Given the description of an element on the screen output the (x, y) to click on. 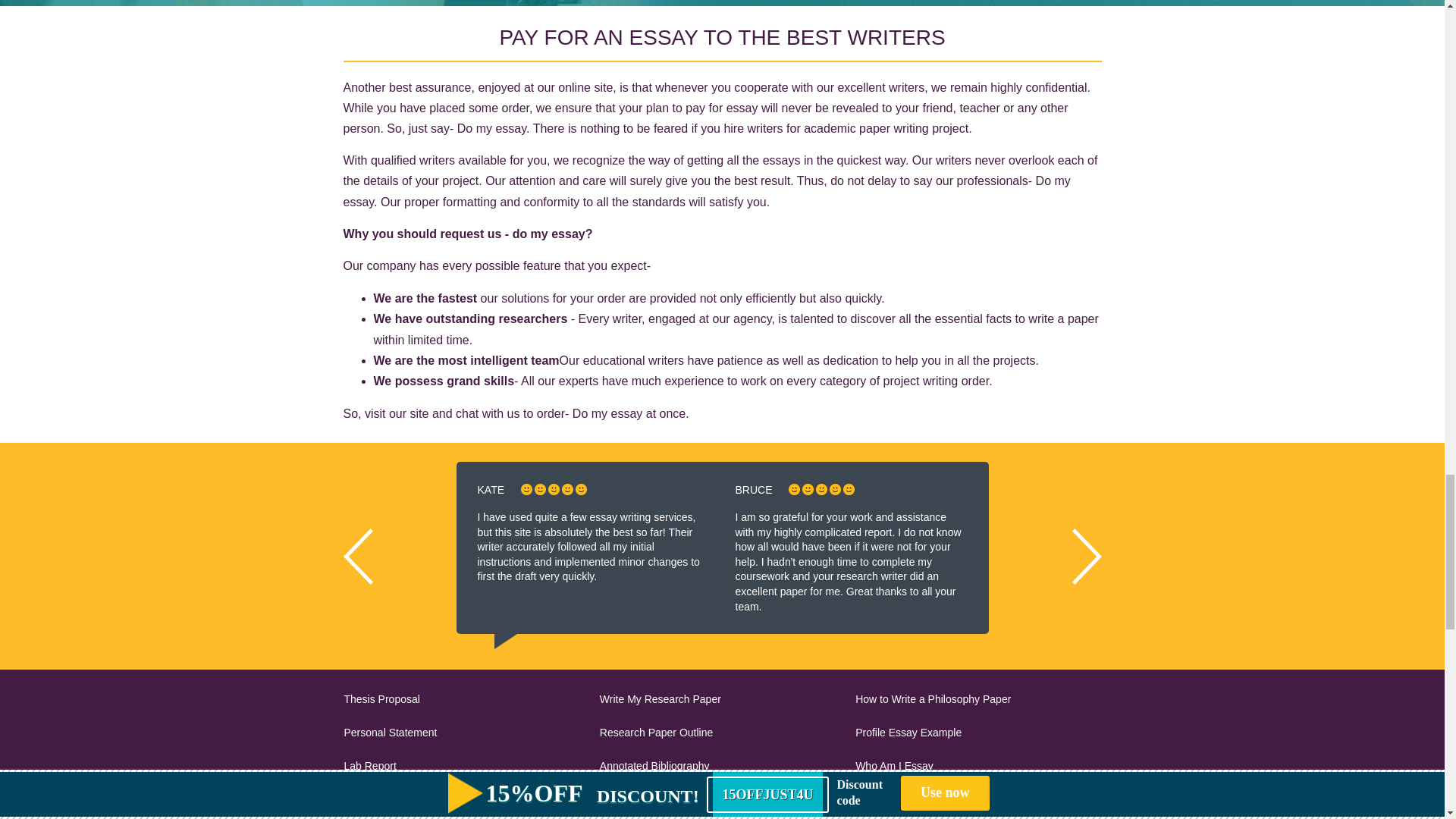
3 (821, 489)
2 (807, 489)
Research Paper Outline (721, 732)
Personal Statement (466, 732)
Lab Report (466, 766)
1 (794, 489)
3 (553, 489)
1 (526, 489)
4 (567, 489)
Write My Research Paper (721, 700)
